Given the description of an element on the screen output the (x, y) to click on. 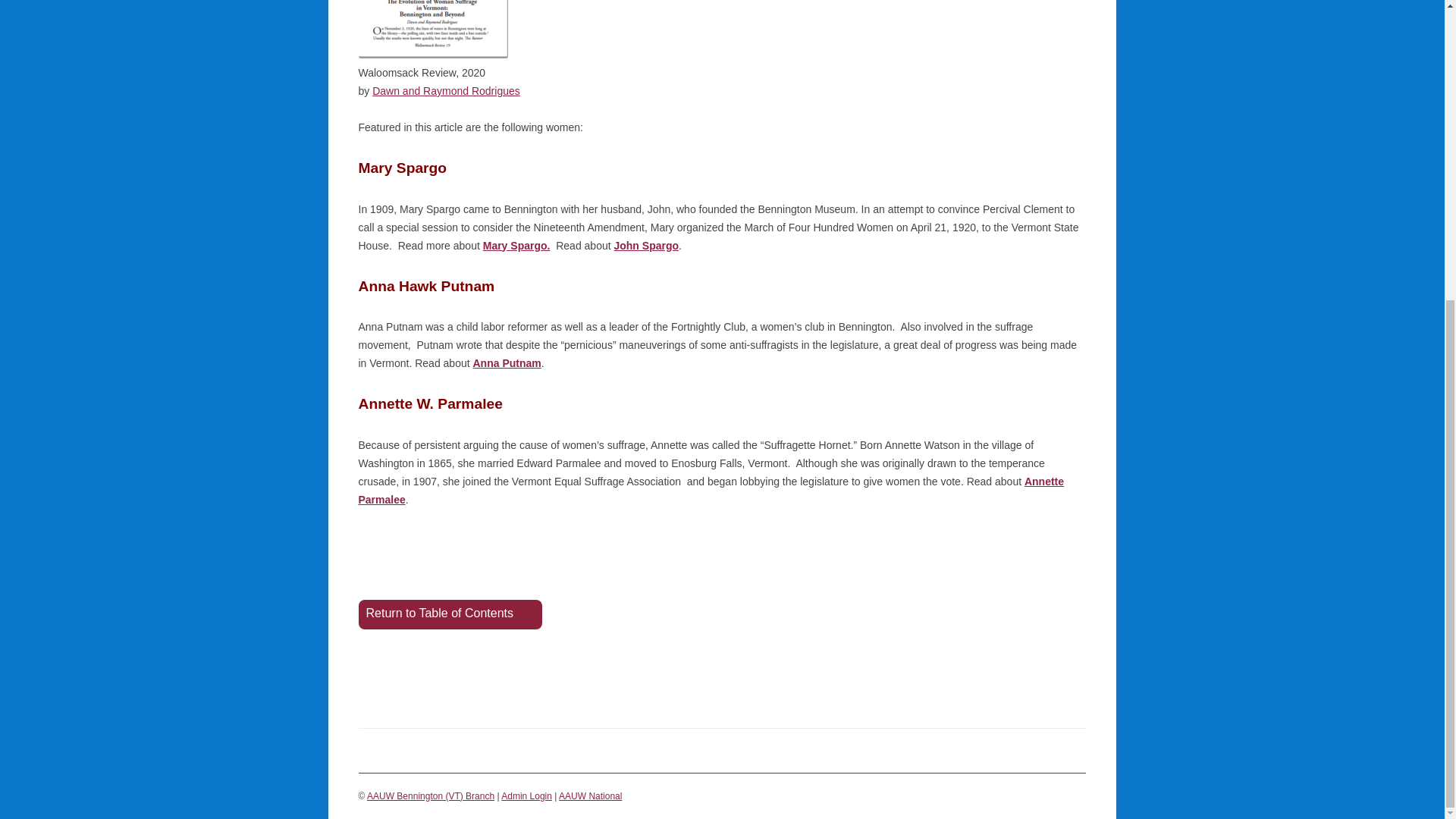
John Spargo (645, 245)
Dawn and Raymond Rodrigues (445, 91)
Anna Putnam (507, 363)
Return to Table of Contents (449, 614)
AAUW National (590, 796)
Admin Login (525, 796)
Annette Parmalee (711, 490)
Mary Spargo. (516, 245)
